Given the description of an element on the screen output the (x, y) to click on. 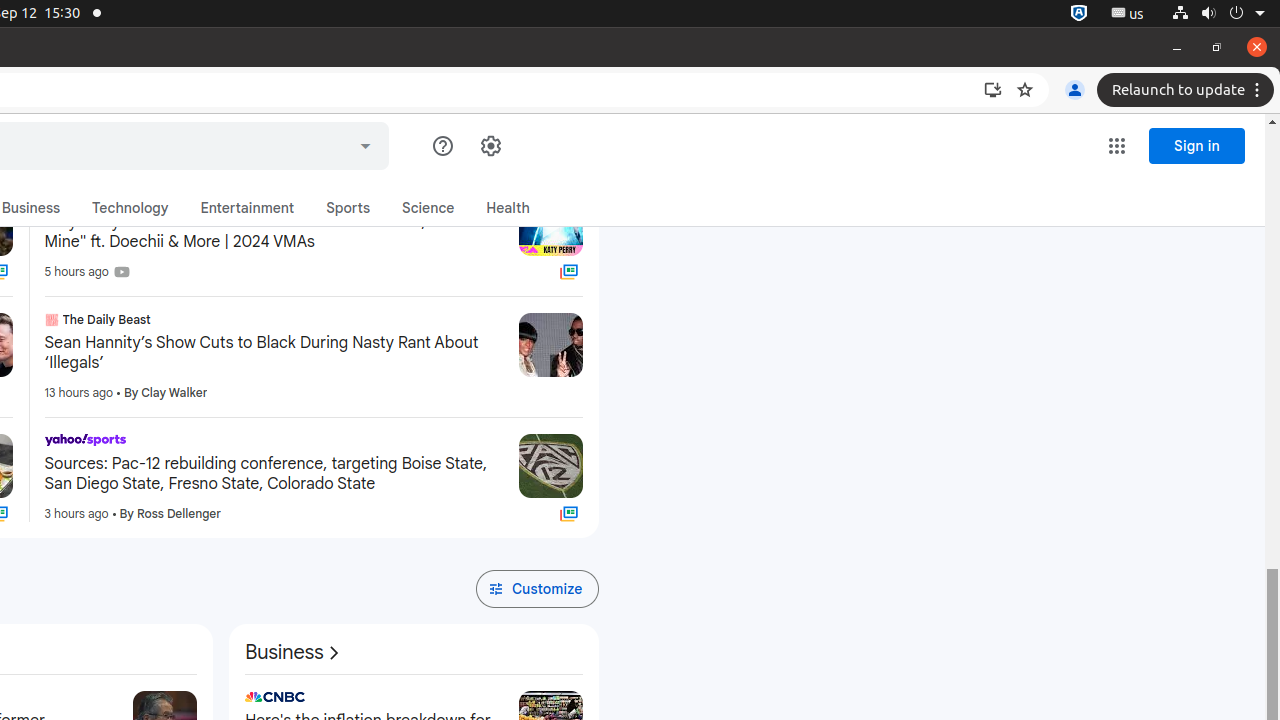
Technology Element type: menu-item (130, 208)
Science Element type: menu-item (428, 208)
More - Sean Hannity’s Show Cuts to Black During Nasty Rant About ‘Illegals’ Element type: push-button (496, 322)
Sources: Pac-12 rebuilding conference, targeting Boise State, San Diego State, Fresno State, Colorado State Element type: link (273, 474)
Business Element type: menu-item (31, 208)
